Given the description of an element on the screen output the (x, y) to click on. 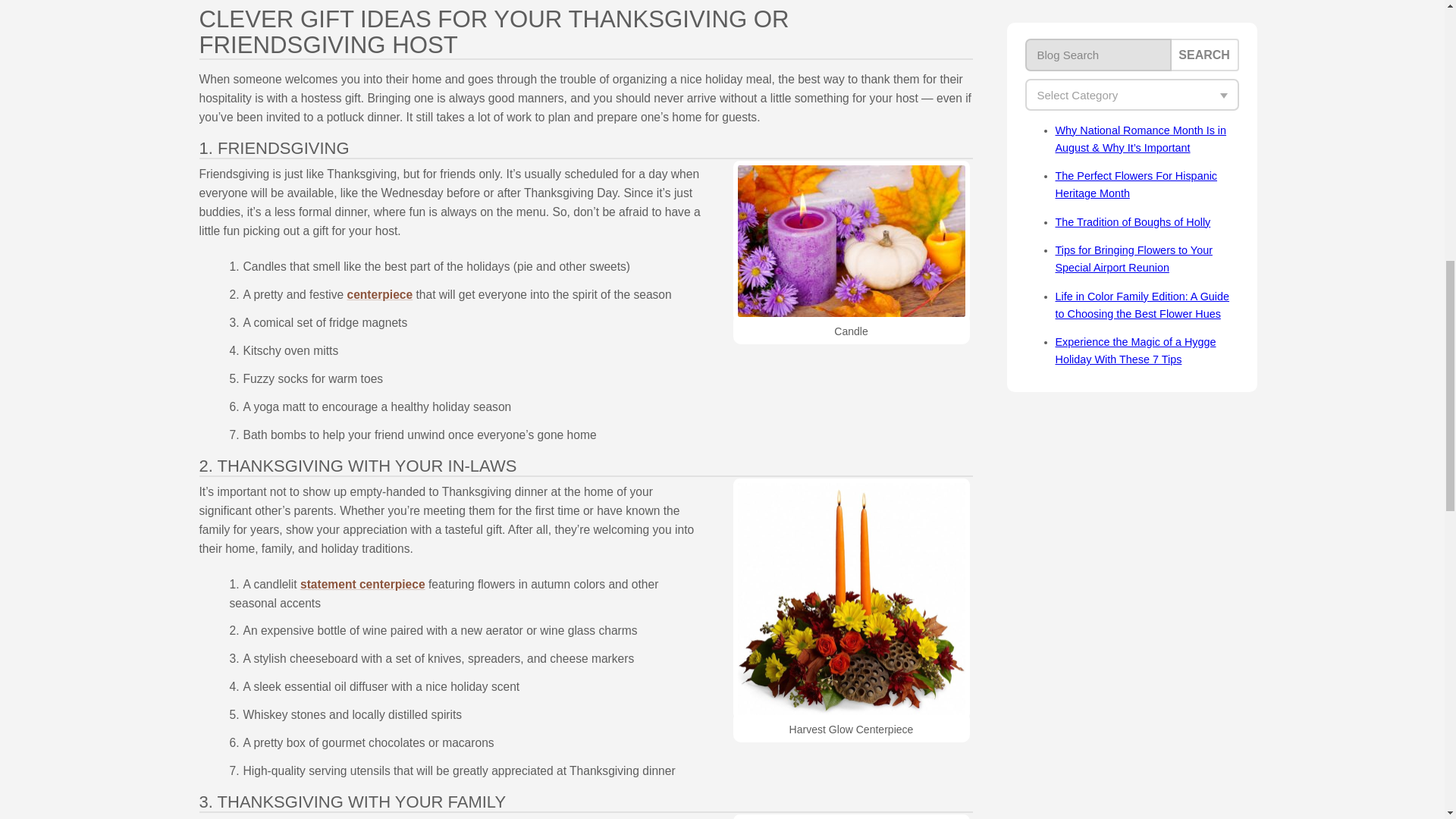
statement centerpiece (362, 584)
centerpiece (380, 294)
